Given the description of an element on the screen output the (x, y) to click on. 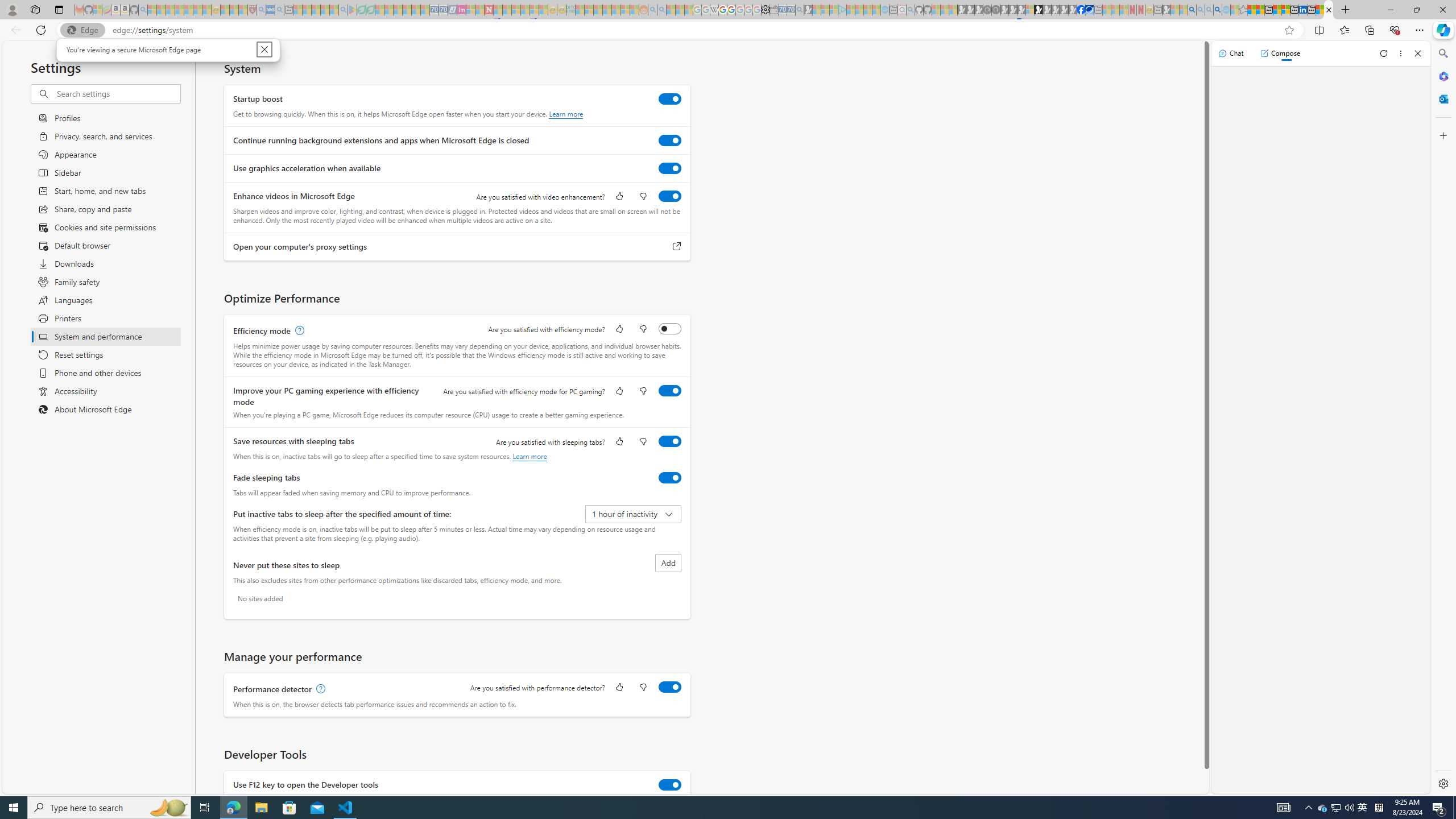
LinkedIn (1302, 9)
Privacy Help Center - Policies Help (722, 9)
Performance detector, learn more (319, 688)
Kinda Frugal - MSN - Sleeping (616, 9)
MSN - Sleeping (1165, 9)
Running applications (700, 807)
